Given the description of an element on the screen output the (x, y) to click on. 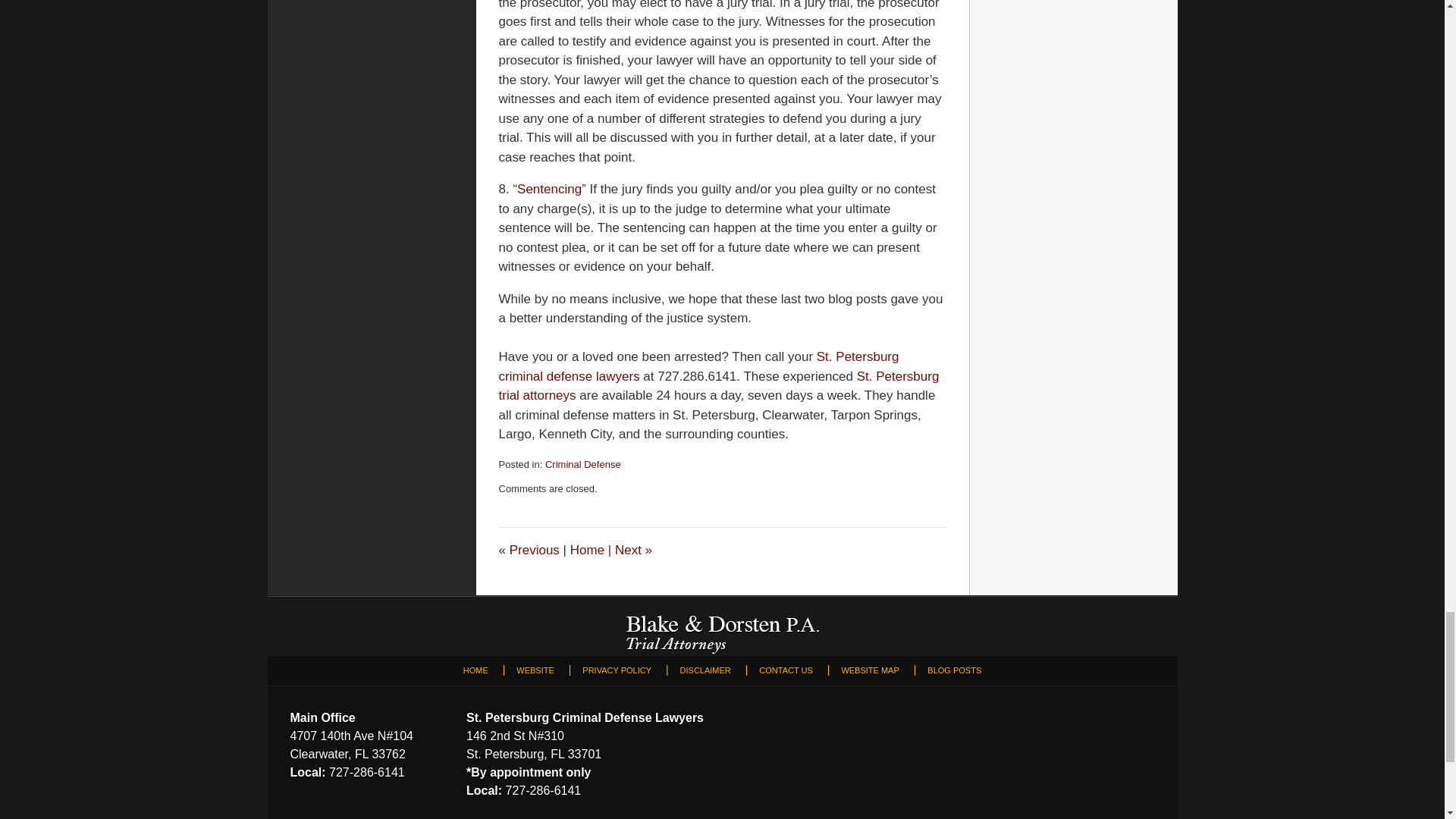
View all posts in Criminal Defense (582, 464)
St. Petersburg criminal defense lawyers (699, 366)
What you need to know about your Florida DUI (529, 549)
Home (587, 549)
St. Petersburg trial attorneys (719, 386)
Sentencing (548, 188)
Criminal Defense (582, 464)
Habitual Traffic Offender?  Call us immediately! (633, 549)
